Given the description of an element on the screen output the (x, y) to click on. 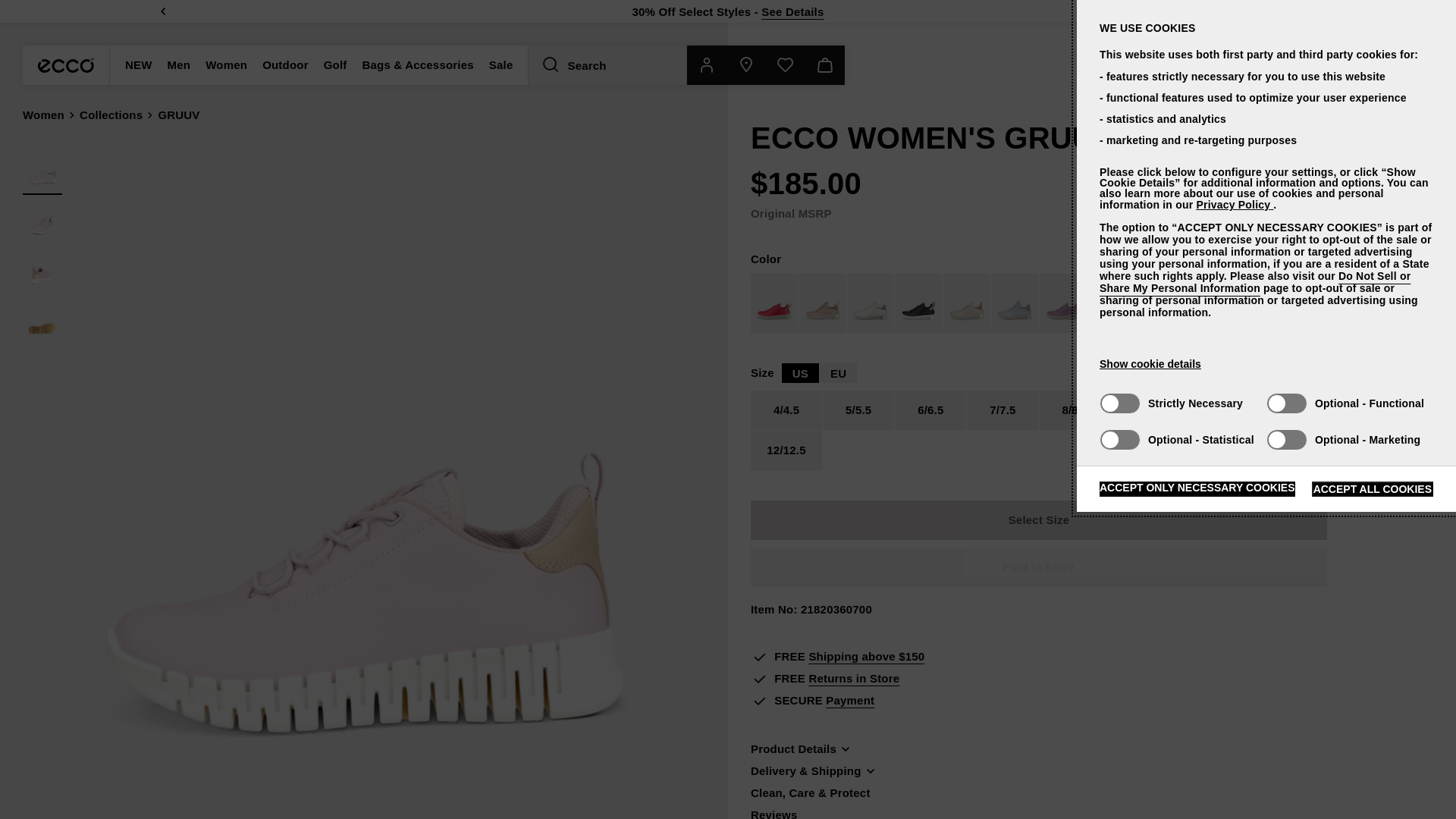
Privacy Policy (1233, 204)
Do Not Sell or Share My Personal Information (1254, 282)
Show cookie details (1150, 363)
